Given the description of an element on the screen output the (x, y) to click on. 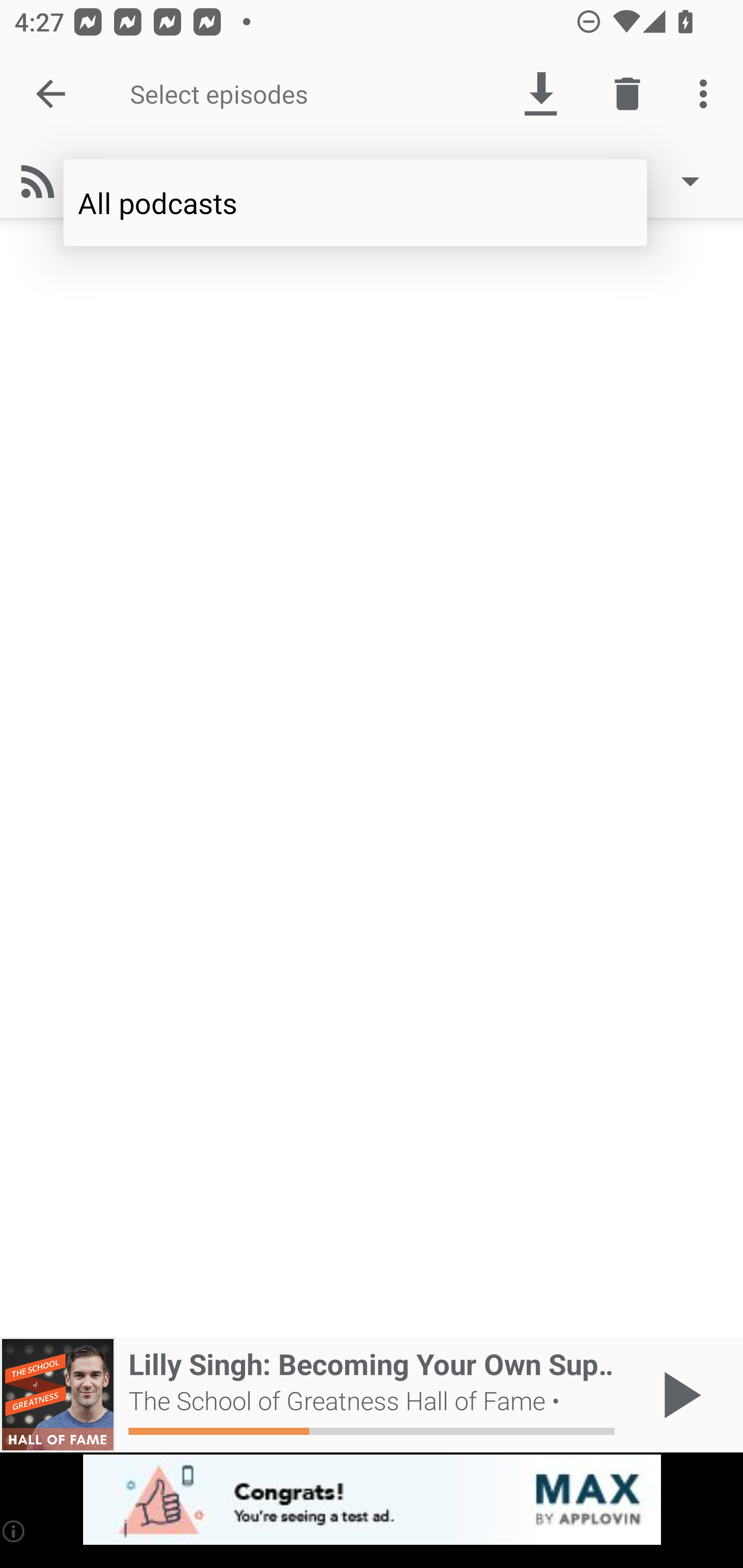
All podcasts (355, 202)
